Given the description of an element on the screen output the (x, y) to click on. 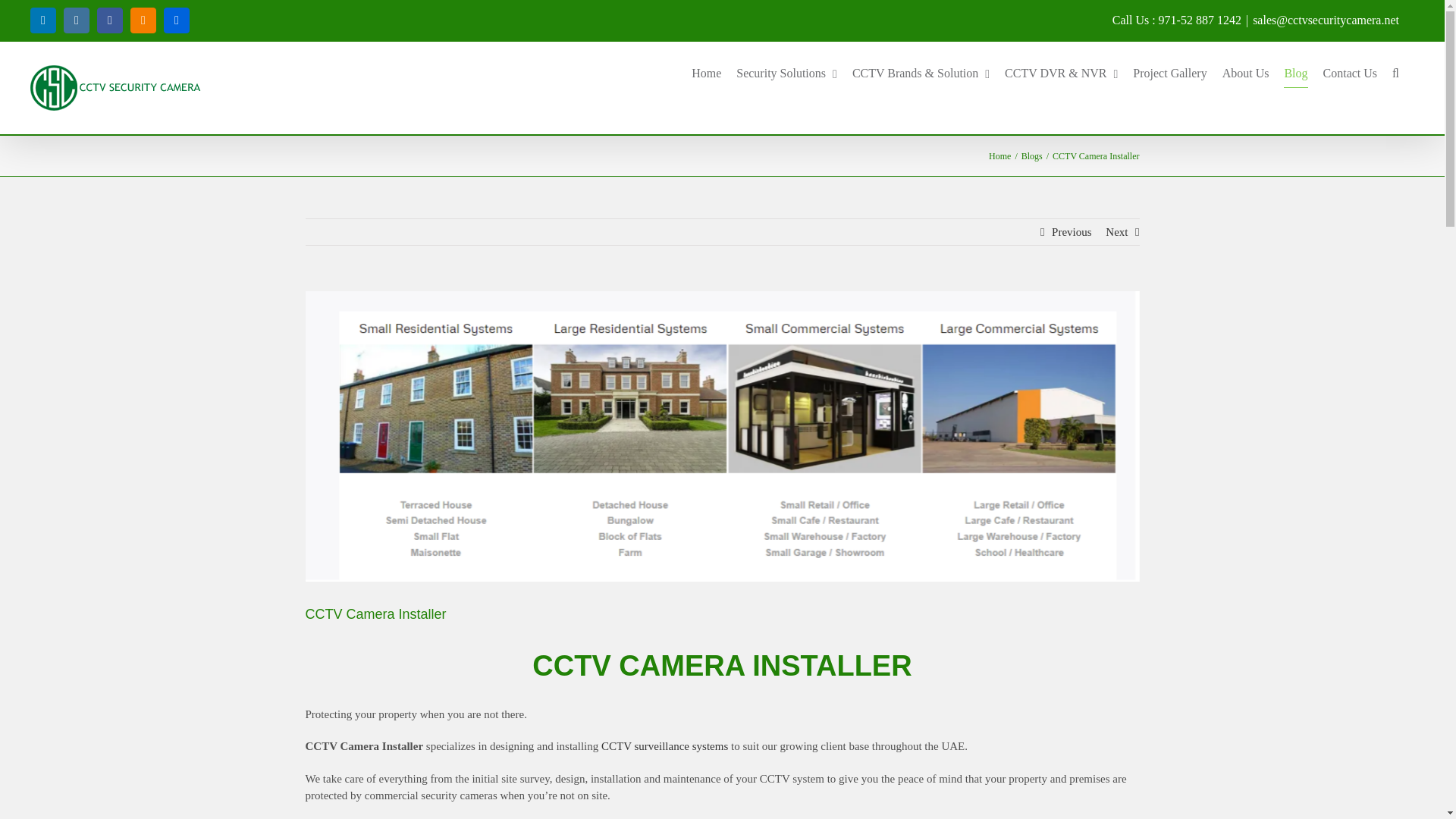
Facebook (109, 20)
Flickr (176, 20)
LinkedIn (43, 20)
Instagram (76, 20)
Security Solutions (786, 73)
Flickr (176, 20)
Instagram (76, 20)
Blogger (143, 20)
LinkedIn (43, 20)
